Given the description of an element on the screen output the (x, y) to click on. 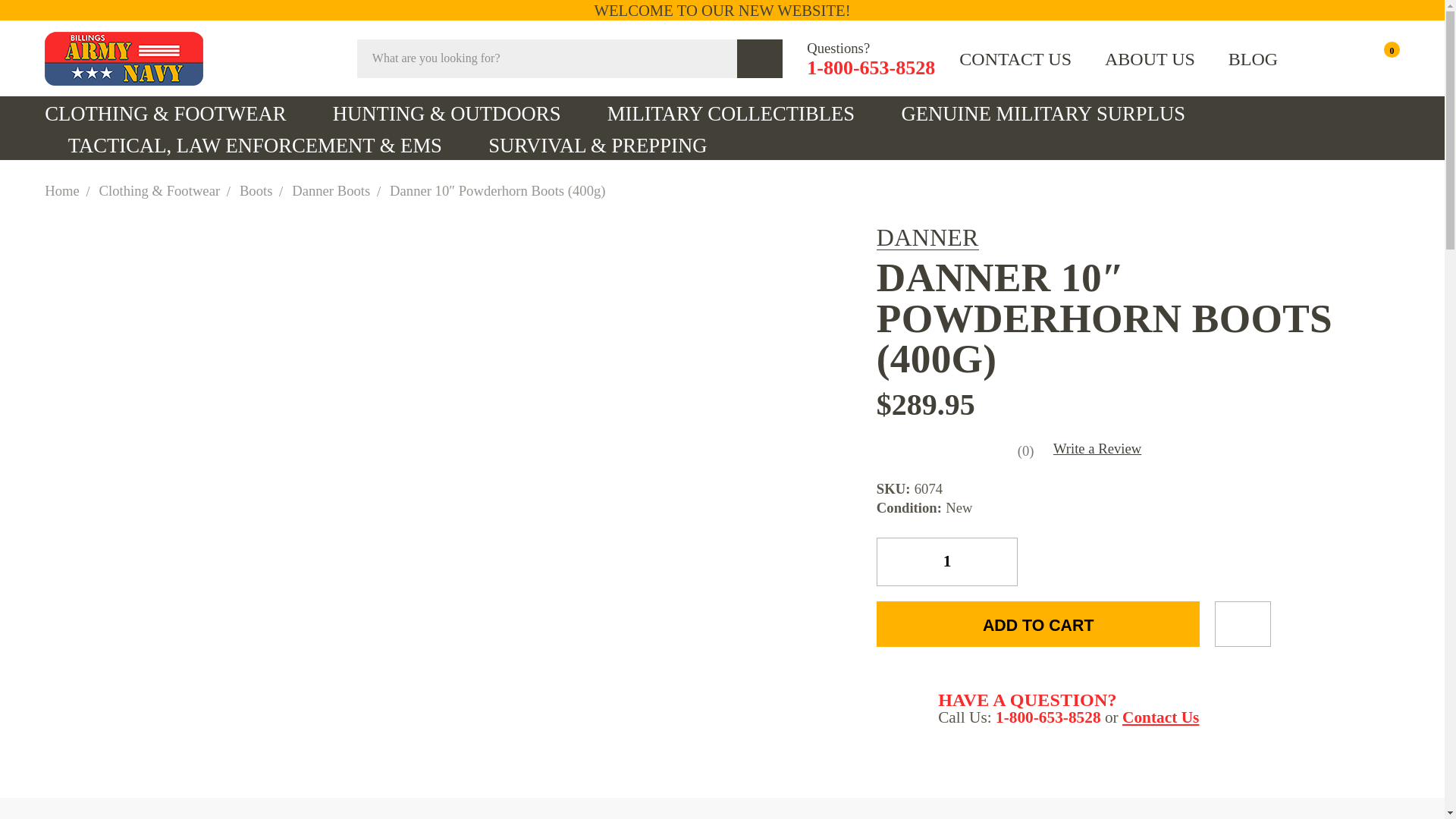
Add to Cart (1037, 624)
ABOUT US (1150, 57)
CONTACT US (1015, 57)
BLOG (1253, 57)
1-800-653-8528 (870, 67)
0 (1379, 57)
Billings Army Navy Surplus (124, 58)
